Given the description of an element on the screen output the (x, y) to click on. 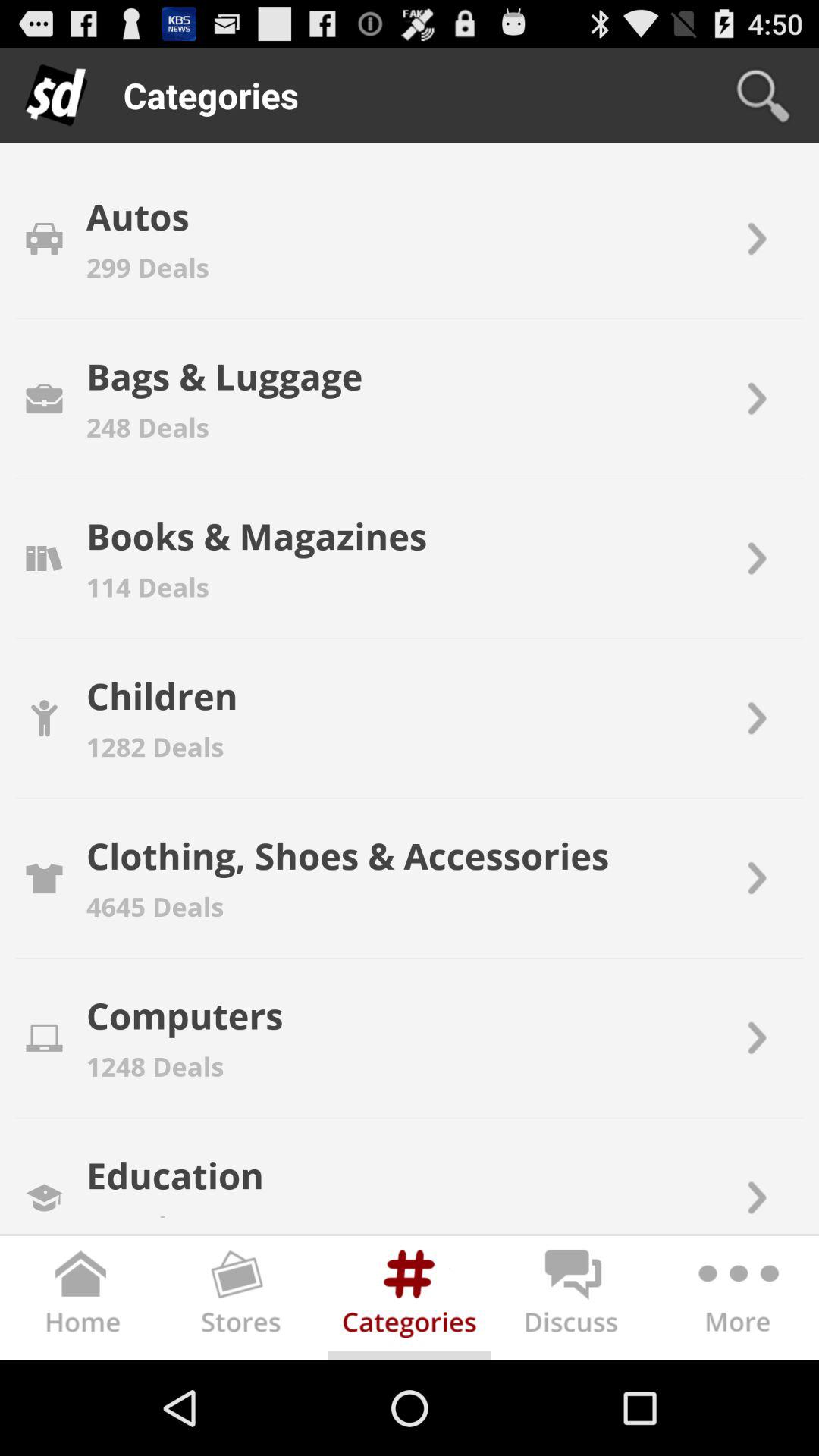
choose app to the right of    categories item (763, 95)
